Given the description of an element on the screen output the (x, y) to click on. 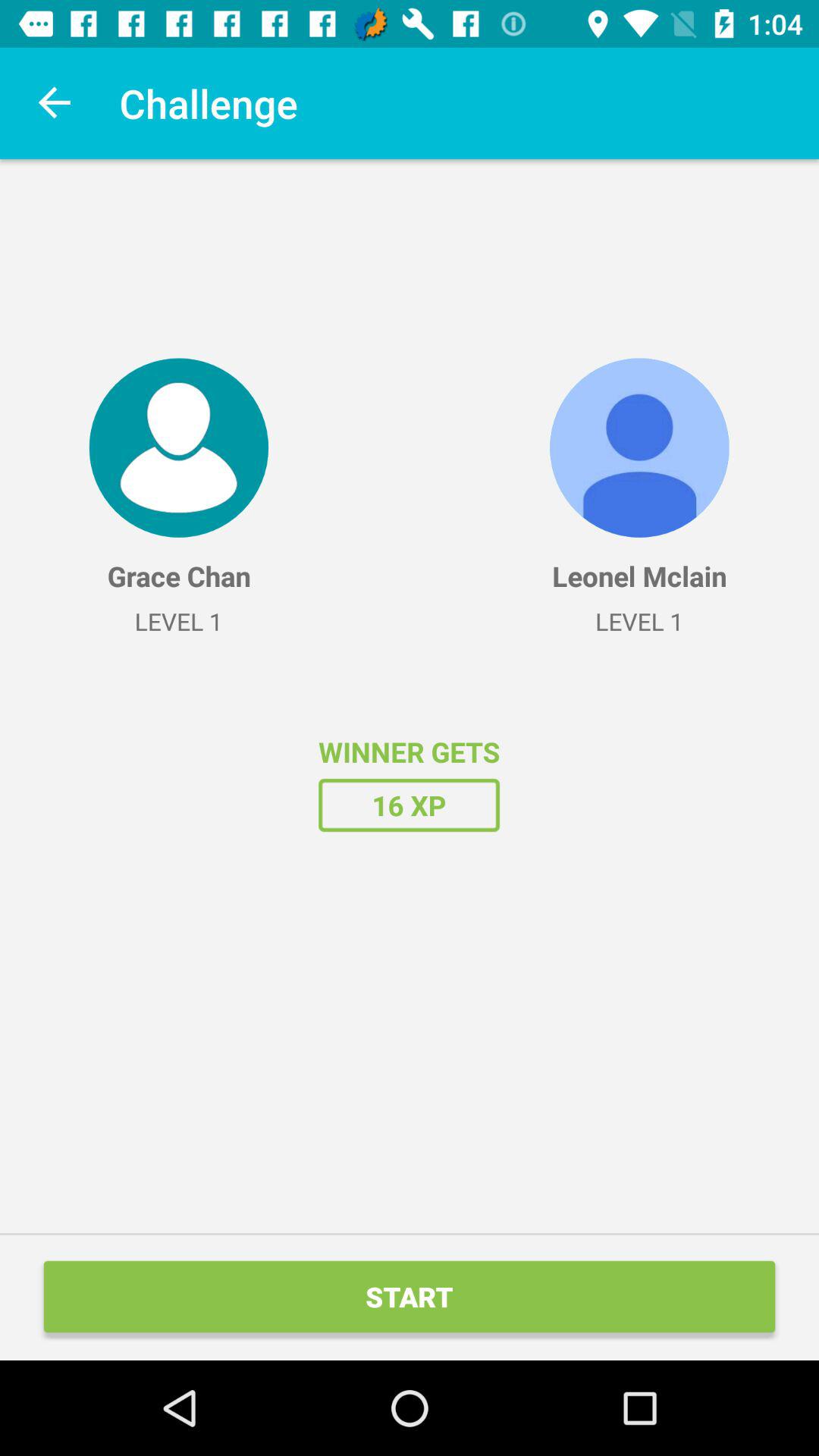
choose the icon to the left of challenge item (55, 103)
